Given the description of an element on the screen output the (x, y) to click on. 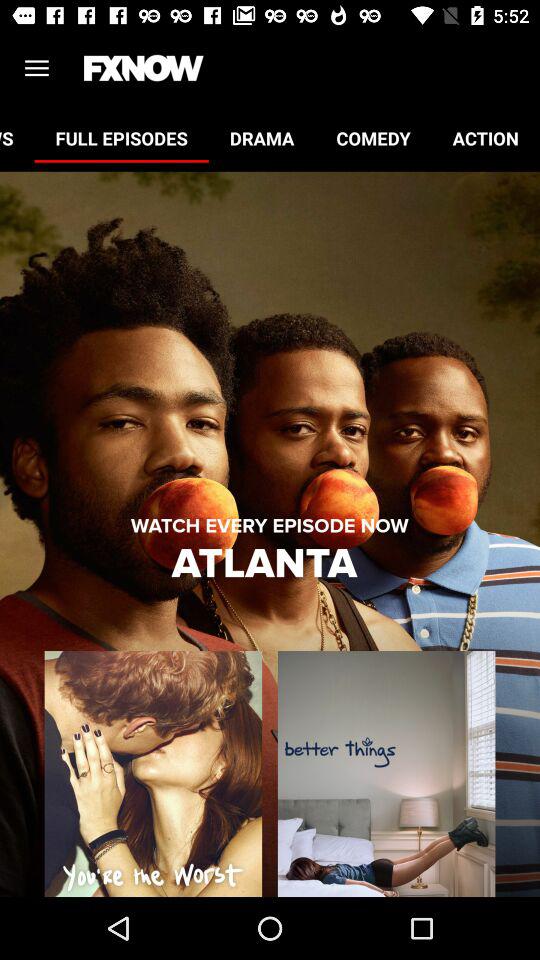
select item to the right of full episodes (261, 138)
